Given the description of an element on the screen output the (x, y) to click on. 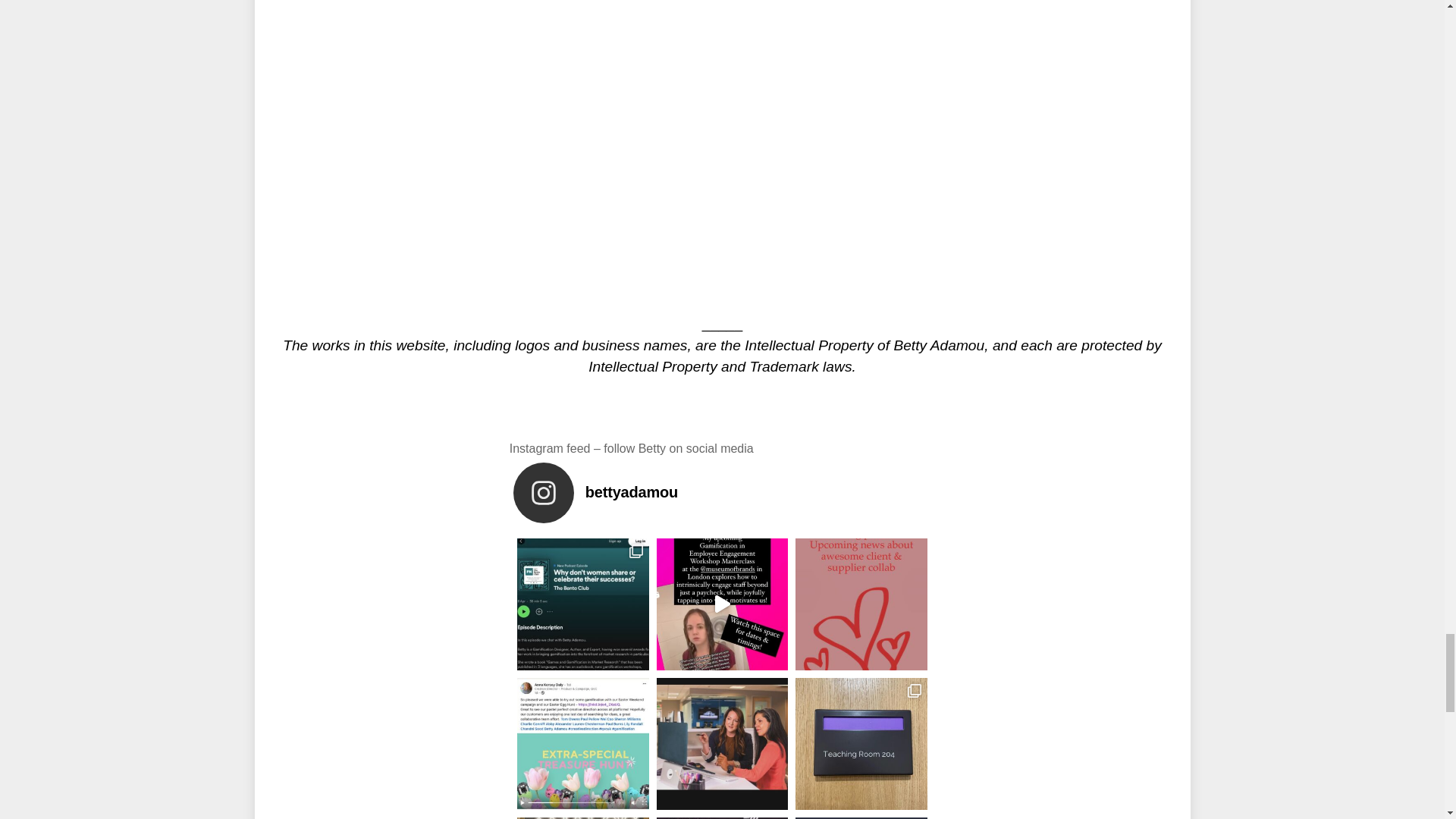
bettyadamou (726, 492)
